Given the description of an element on the screen output the (x, y) to click on. 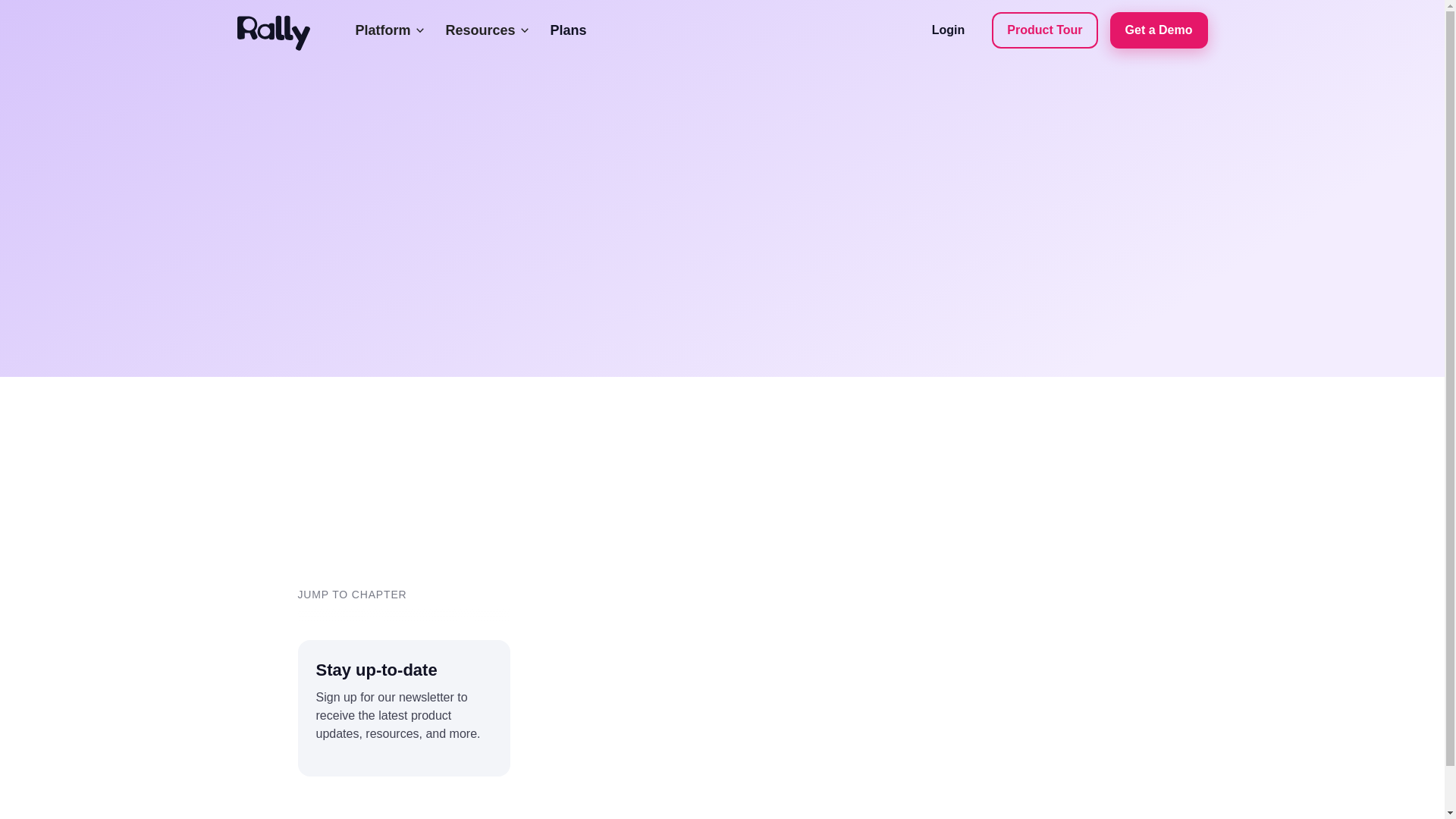
Plans (568, 30)
Login (948, 30)
Get a Demo (1158, 30)
Product Tour (1044, 30)
